Given the description of an element on the screen output the (x, y) to click on. 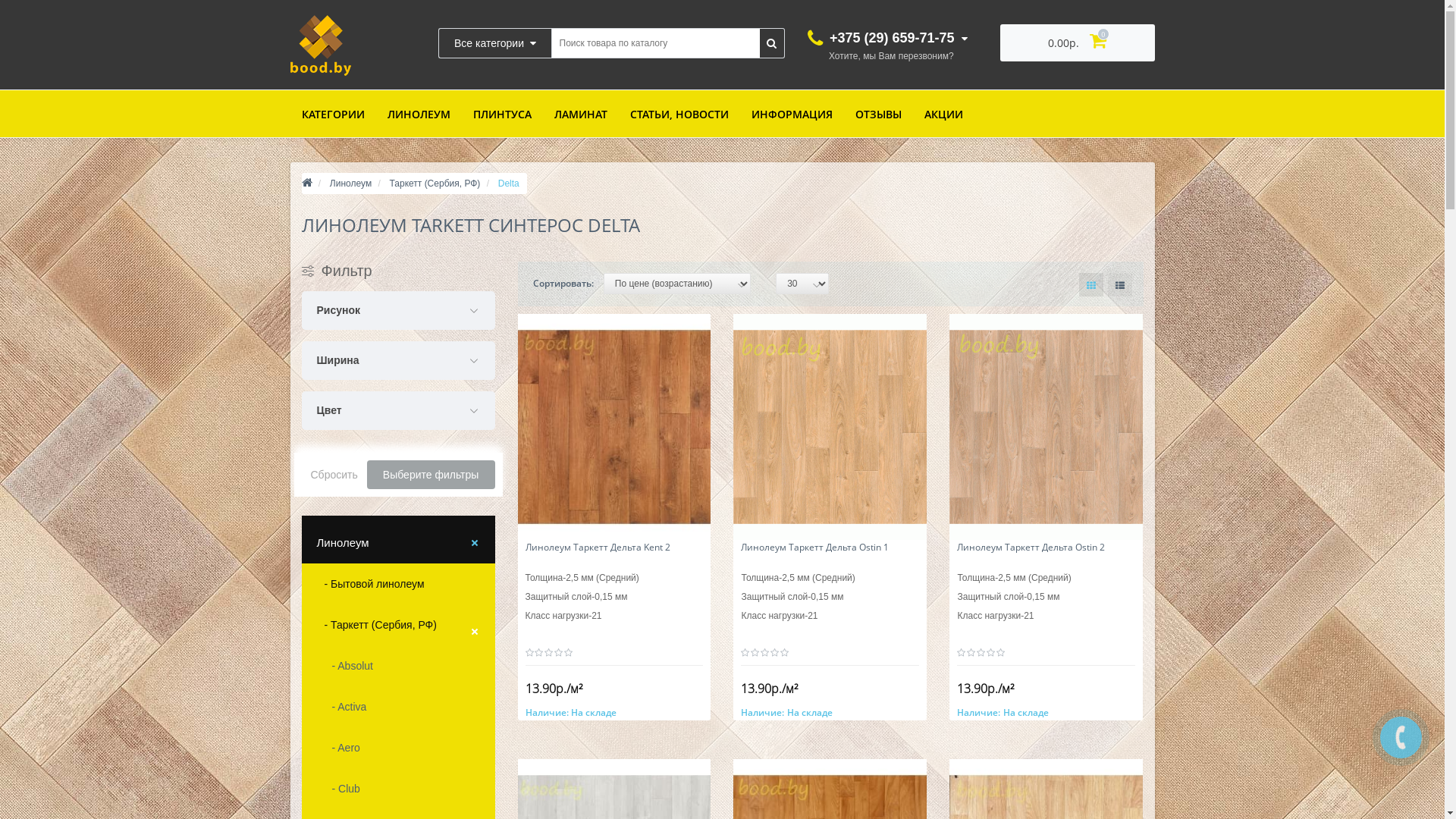
- Aero Element type: text (398, 747)
+375 (29) 659-71-75 Element type: text (887, 37)
- Absolut Element type: text (398, 665)
- Club Element type: text (398, 788)
- Activa Element type: text (398, 706)
